Given the description of an element on the screen output the (x, y) to click on. 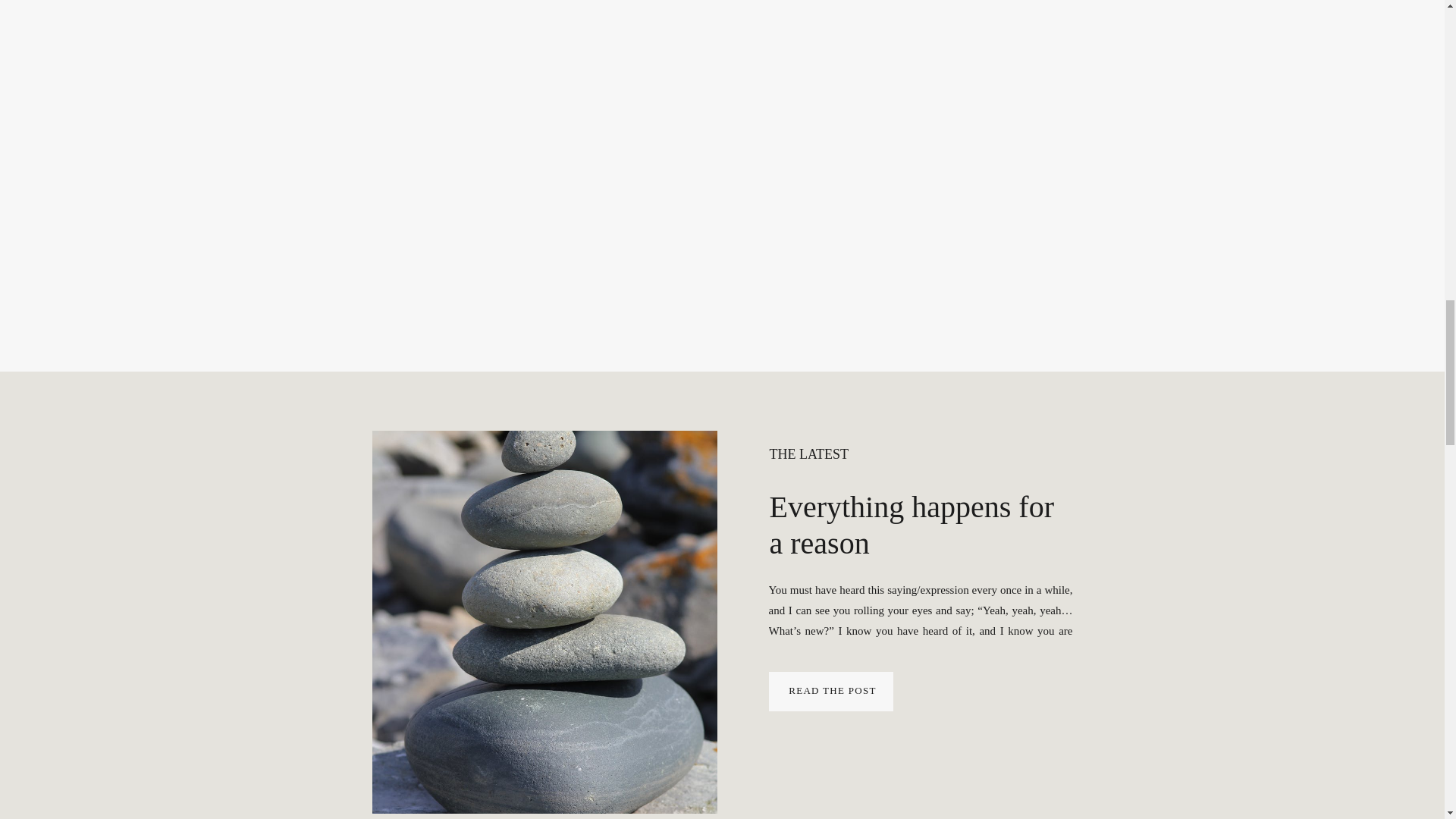
Everything happens for a reason (910, 524)
Everything happens for a reason (831, 690)
Everything happens for a reason (543, 622)
READ THE POST (831, 690)
Everything happens for a reason (830, 691)
